Given the description of an element on the screen output the (x, y) to click on. 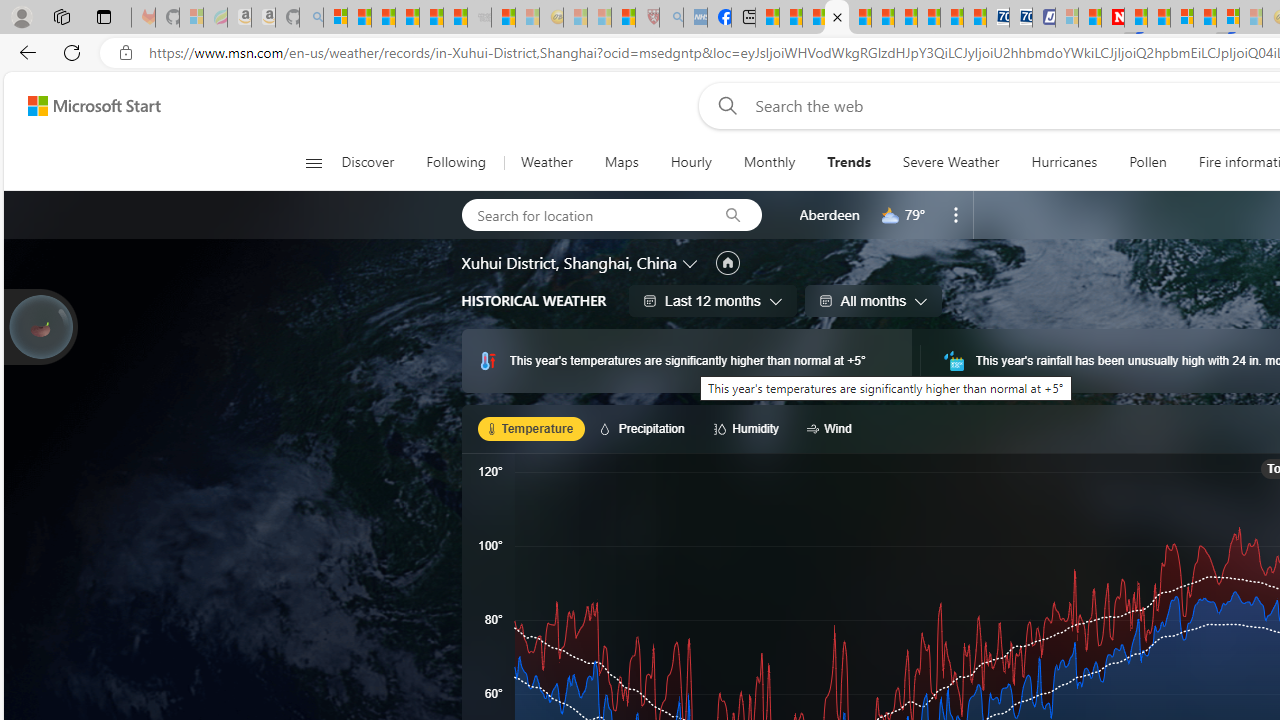
Monthly (769, 162)
Maps (621, 162)
Pollen (1147, 162)
Monthly (769, 162)
Trends (848, 162)
Maps (621, 162)
Combat Siege - Sleeping (479, 17)
